Given the description of an element on the screen output the (x, y) to click on. 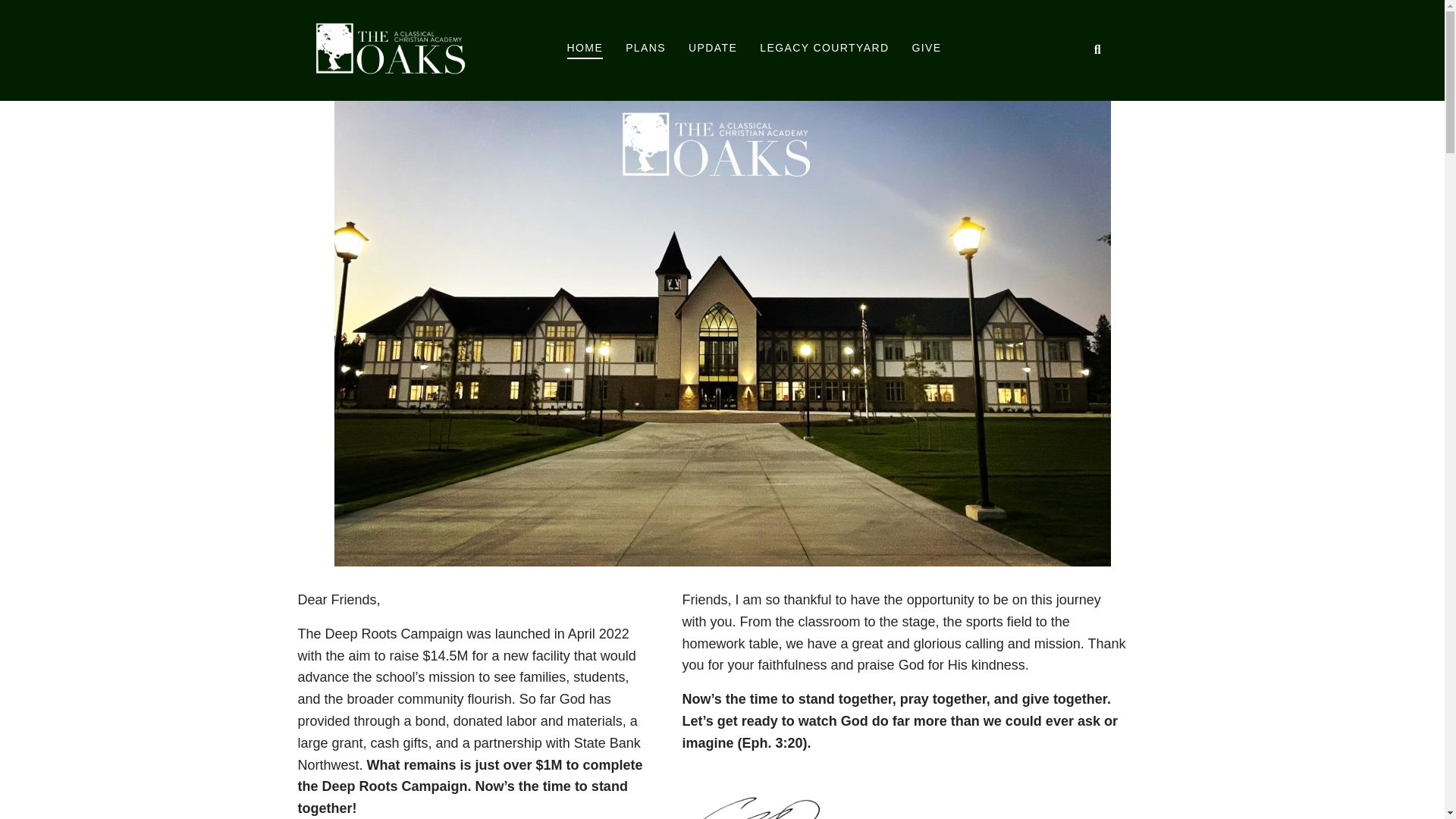
GIVE (925, 49)
Yes, I want to help close the gap! (722, 14)
LEGACY COURTYARD (824, 49)
HOME (585, 49)
PLANS (645, 49)
UPDATE (712, 49)
